Given the description of an element on the screen output the (x, y) to click on. 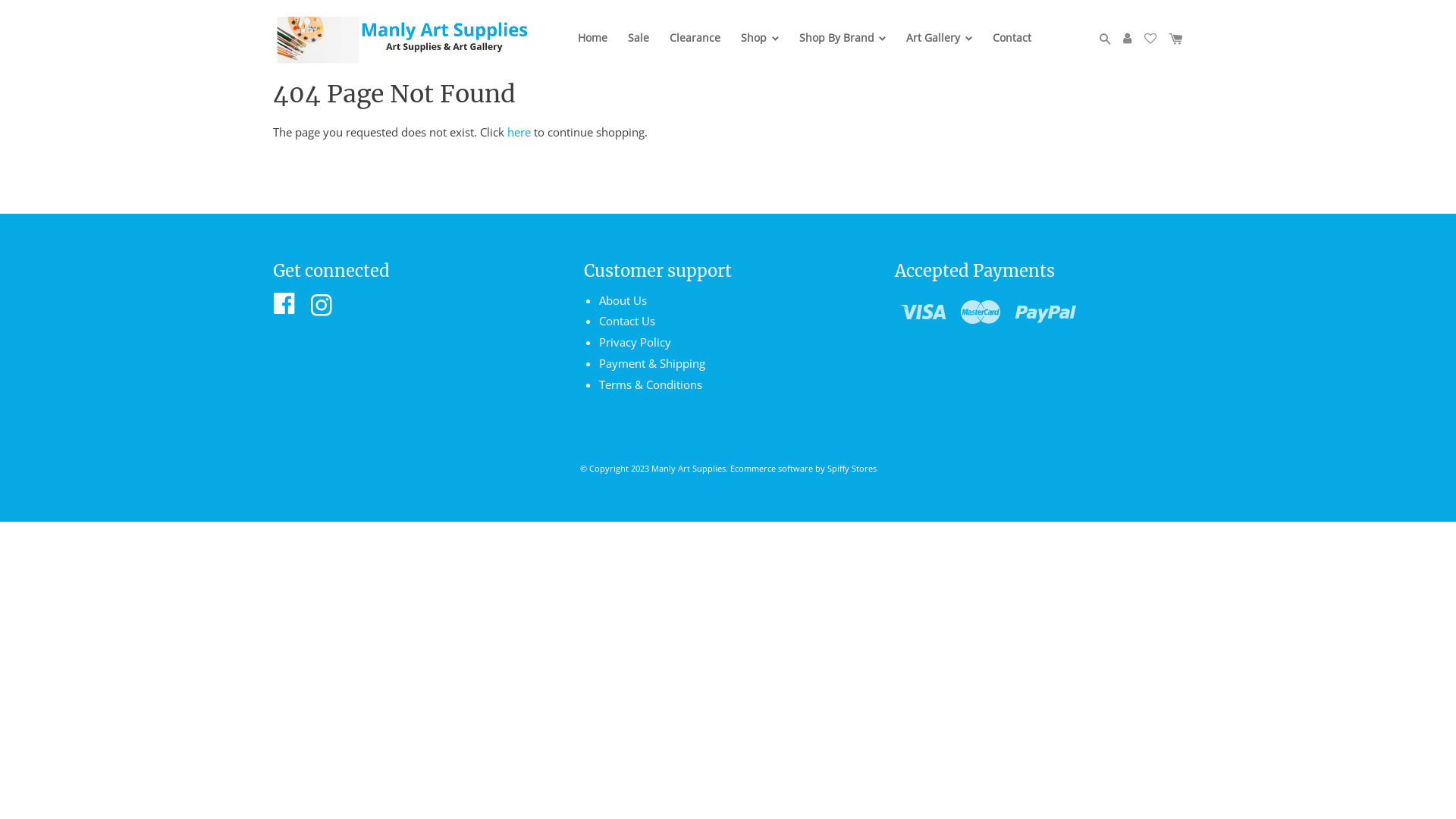
Shop By Brand Element type: text (842, 43)
Privacy Policy Element type: text (635, 341)
Clearance Element type: text (694, 44)
Facebook Element type: text (284, 307)
Sale Element type: text (638, 44)
Home Element type: text (592, 44)
Ecommerce software by Spiffy Stores Element type: text (802, 467)
Terms & Conditions Element type: text (650, 384)
Art Gallery Element type: text (939, 43)
About Us Element type: text (622, 299)
Payment & Shipping Element type: text (652, 362)
Shop Element type: text (759, 43)
Contact Element type: text (1011, 44)
Contact Us Element type: text (627, 320)
Instagram Element type: text (321, 307)
here Element type: text (518, 131)
